Given the description of an element on the screen output the (x, y) to click on. 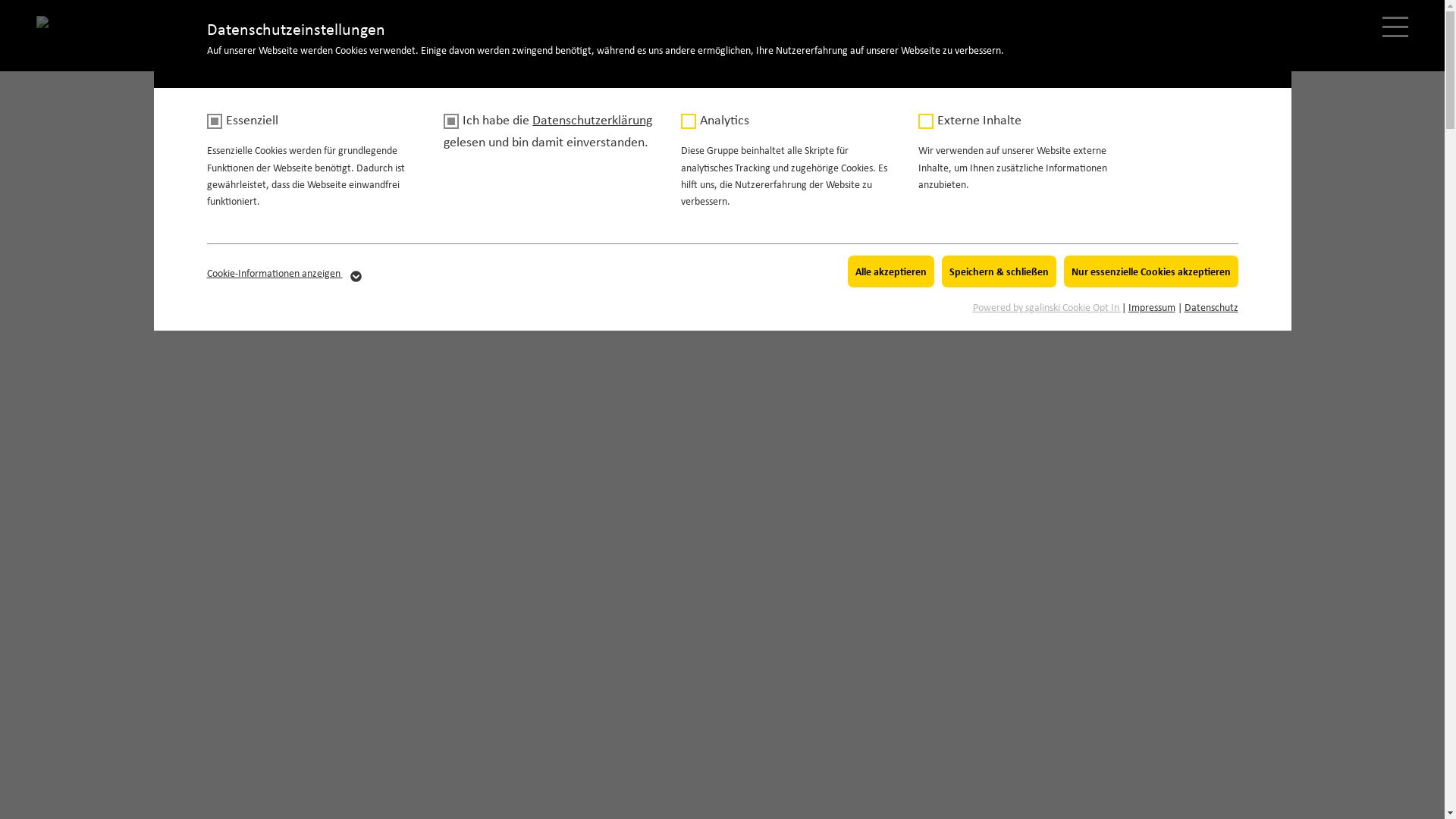
Cookie-Informationen anzeigen Element type: text (285, 272)
UMB - Home Element type: hover (54, 24)
Impressum Element type: text (1151, 306)
Powered by sgalinski Cookie Opt In Element type: text (1046, 306)
Suche Element type: hover (1346, 25)
Seite teilen auf Element type: hover (1298, 25)
Bewirb dich jetzt! Element type: text (1044, 27)
Alle akzeptieren Element type: text (890, 271)
ServiceDesk Element type: hover (1251, 25)
Datenschutz Element type: text (1211, 306)
Nur essenzielle Cookies akzeptieren Element type: text (1150, 271)
